Given the description of an element on the screen output the (x, y) to click on. 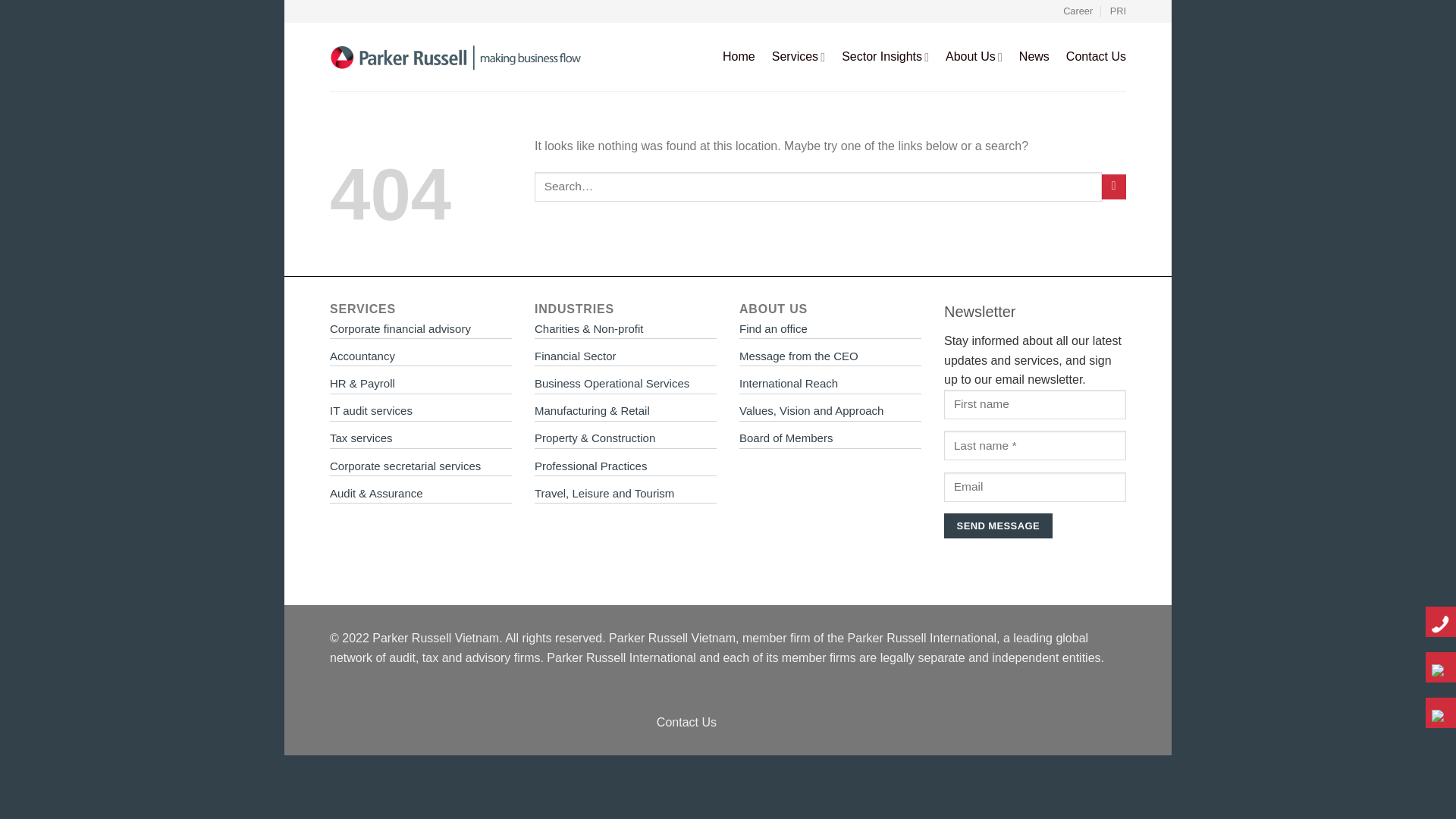
Parker Russell Vietnam (456, 56)
Corporate financial advisory (400, 328)
IT audit services (371, 410)
Home (738, 56)
Accountancy (362, 355)
Tax services (361, 437)
Corporate secretarial services (405, 465)
Services (798, 57)
